Given the description of an element on the screen output the (x, y) to click on. 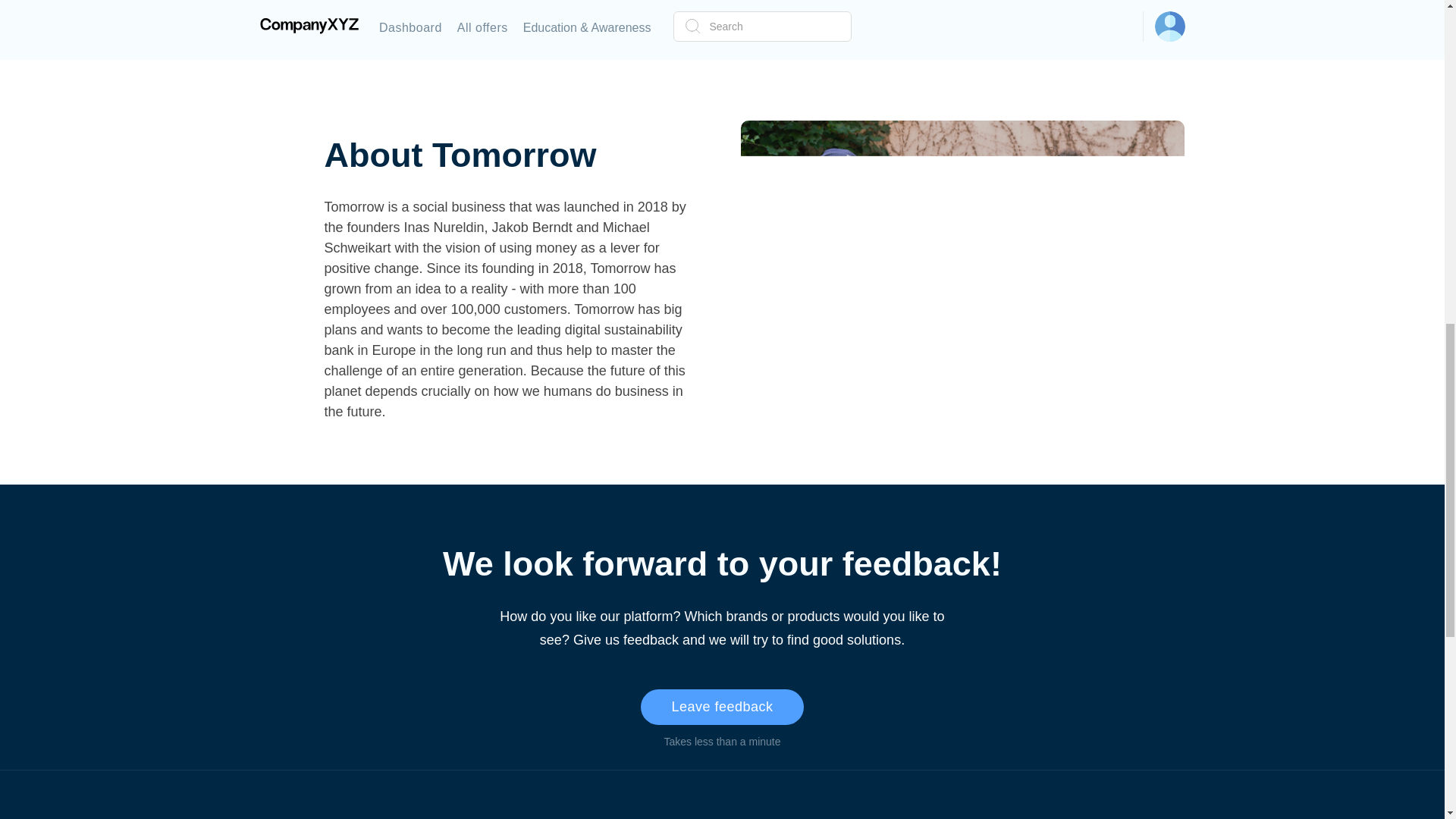
Leave feedback (721, 706)
Send (1045, 18)
Send (1045, 18)
